Given the description of an element on the screen output the (x, y) to click on. 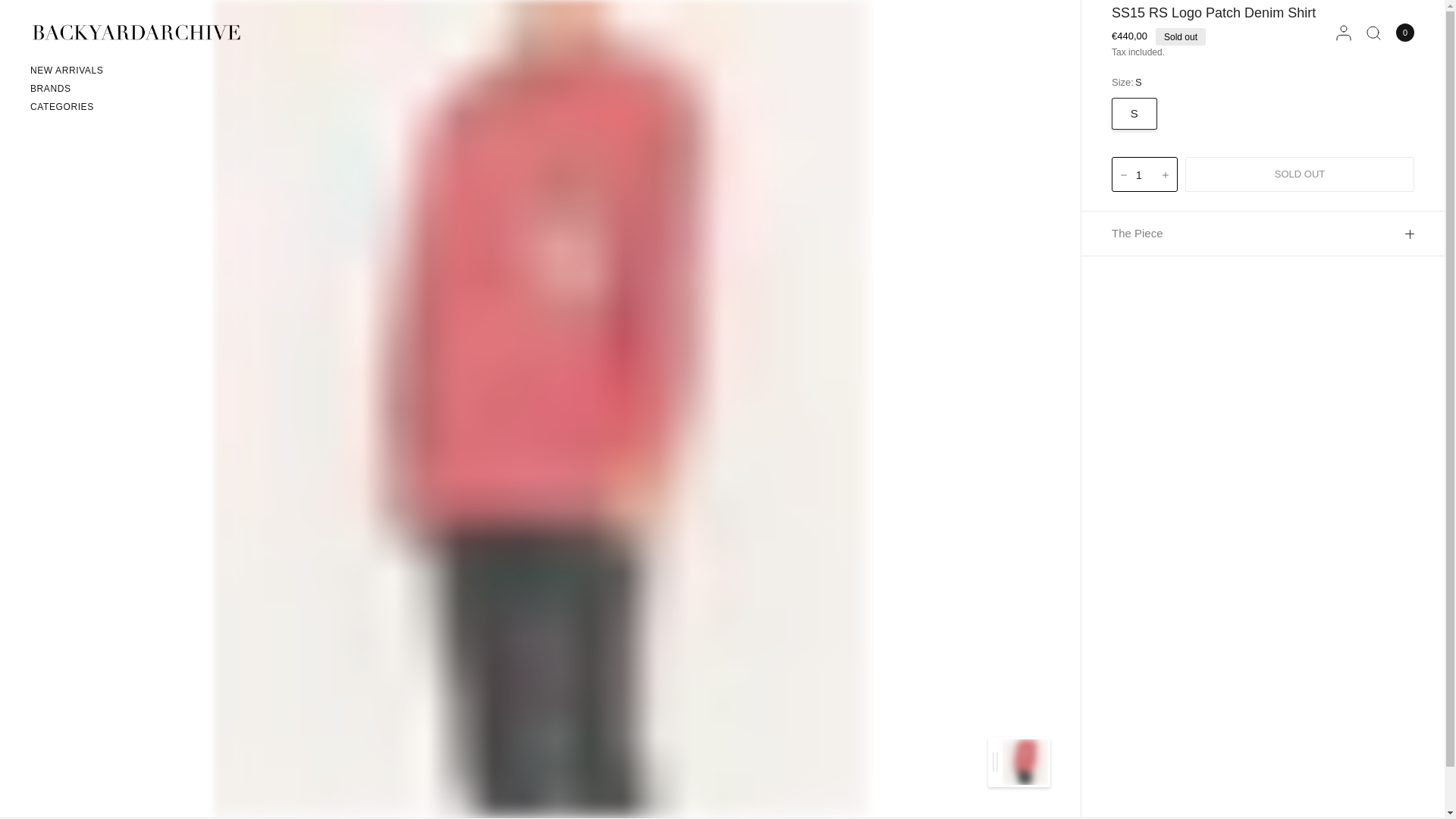
BRANDS (66, 88)
NEW ARRIVALS (66, 70)
CATEGORIES (66, 106)
